Given the description of an element on the screen output the (x, y) to click on. 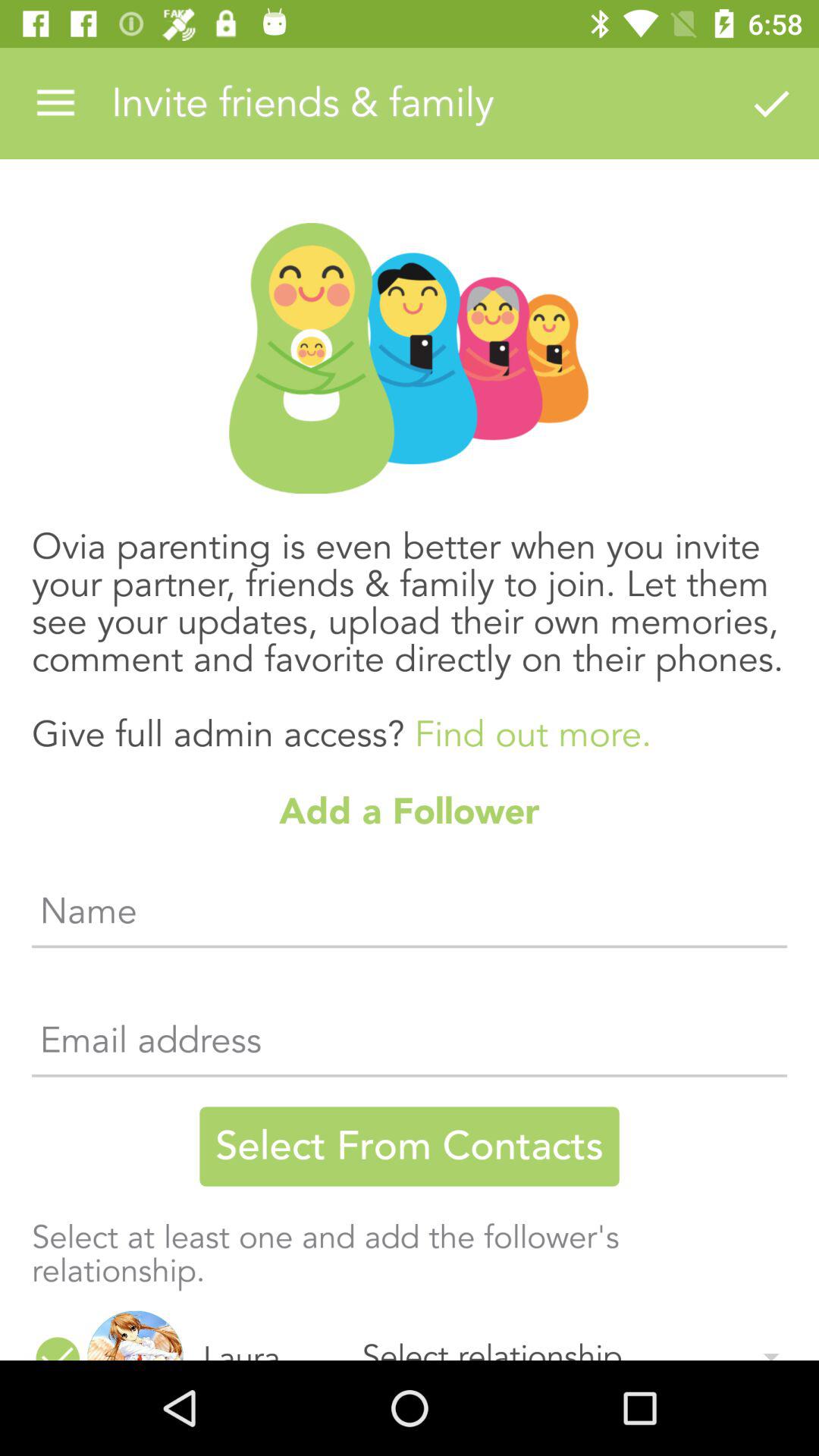
press the item below select at least (135, 1335)
